Given the description of an element on the screen output the (x, y) to click on. 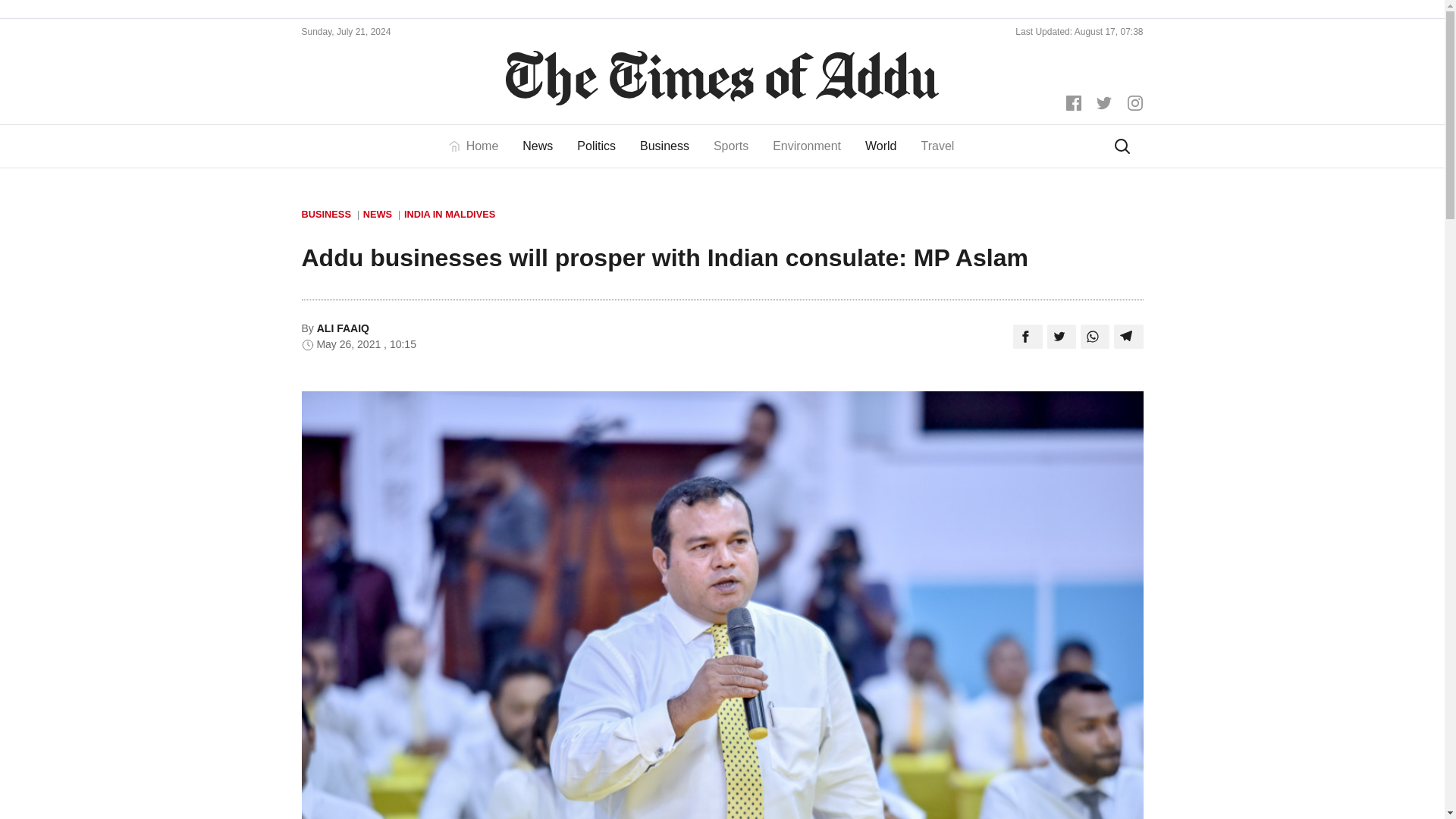
World (880, 146)
Home (479, 146)
News (537, 146)
Sports (730, 146)
Business (664, 146)
Twitter icon (1104, 102)
News (537, 146)
ALI FAAIQ (343, 328)
Environment (806, 146)
Sports (730, 146)
Politics (595, 146)
BUSINESS (330, 214)
Travel (937, 146)
Environment (806, 146)
Instagram icon (1133, 101)
